Given the description of an element on the screen output the (x, y) to click on. 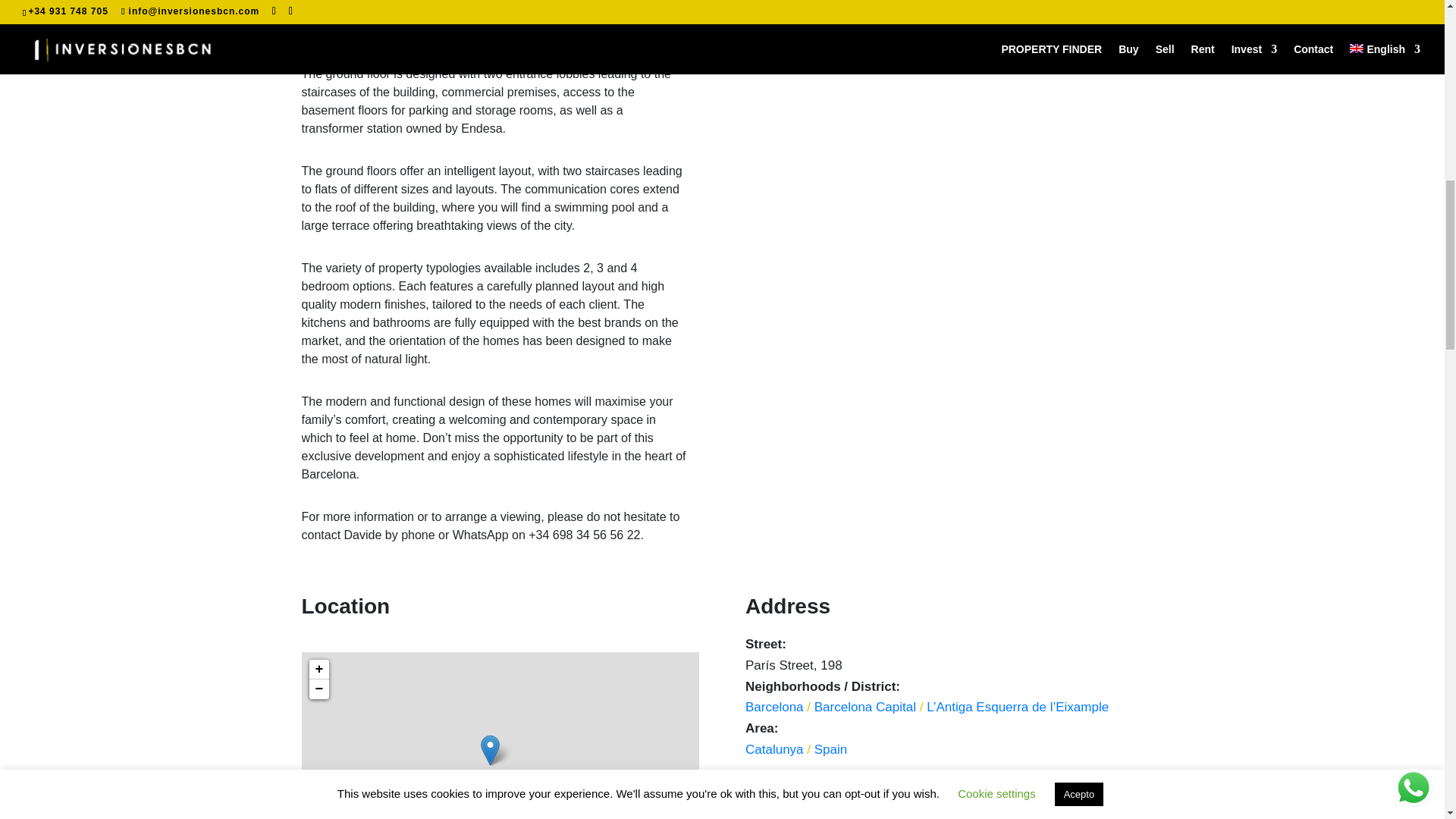
Zoom out (318, 689)
Zoom in (318, 669)
